Given the description of an element on the screen output the (x, y) to click on. 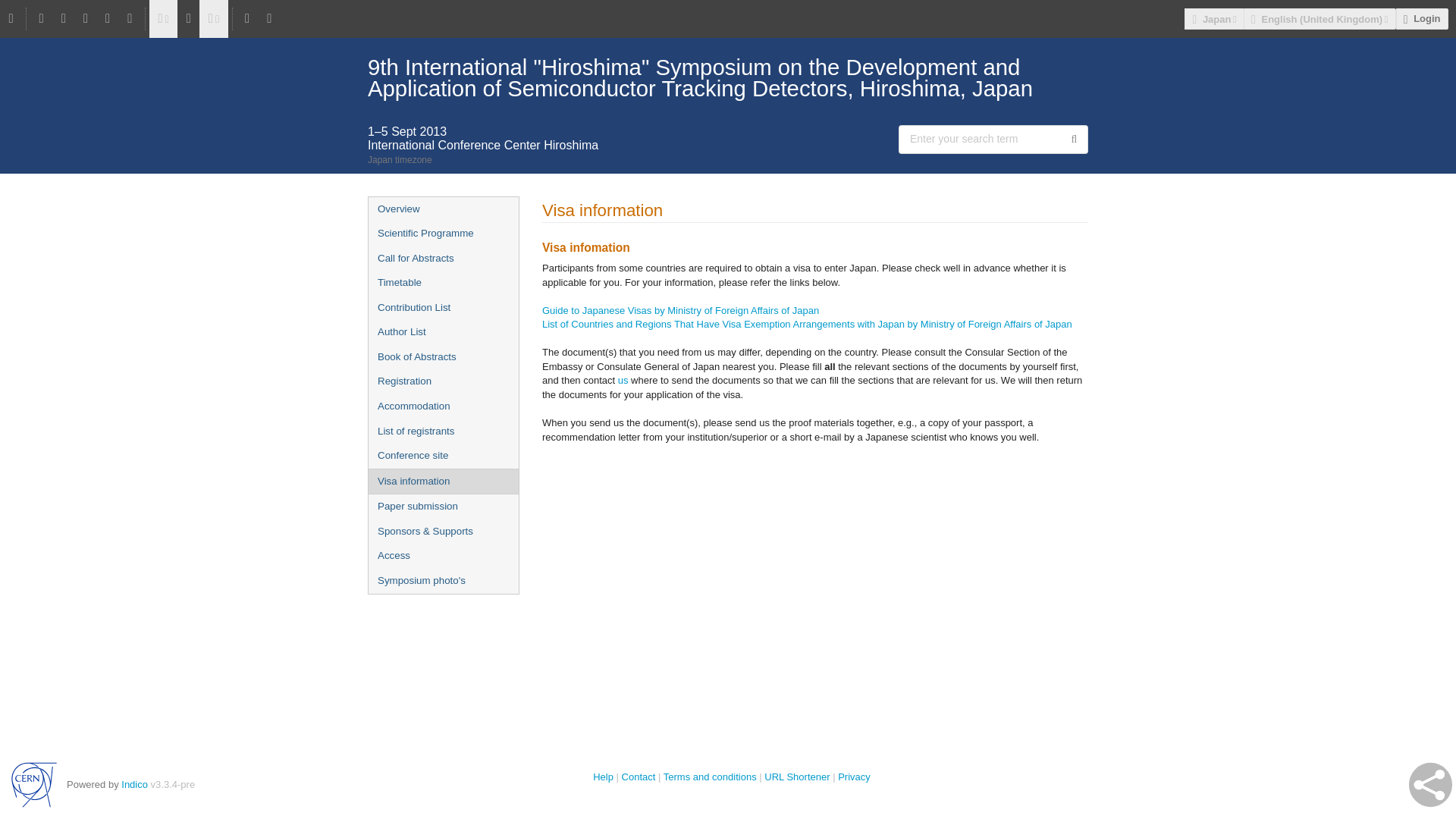
Scientific Programme (443, 233)
Call for Abstracts (443, 258)
Japan (1214, 19)
Overview (443, 209)
Login (1422, 19)
